Given the description of an element on the screen output the (x, y) to click on. 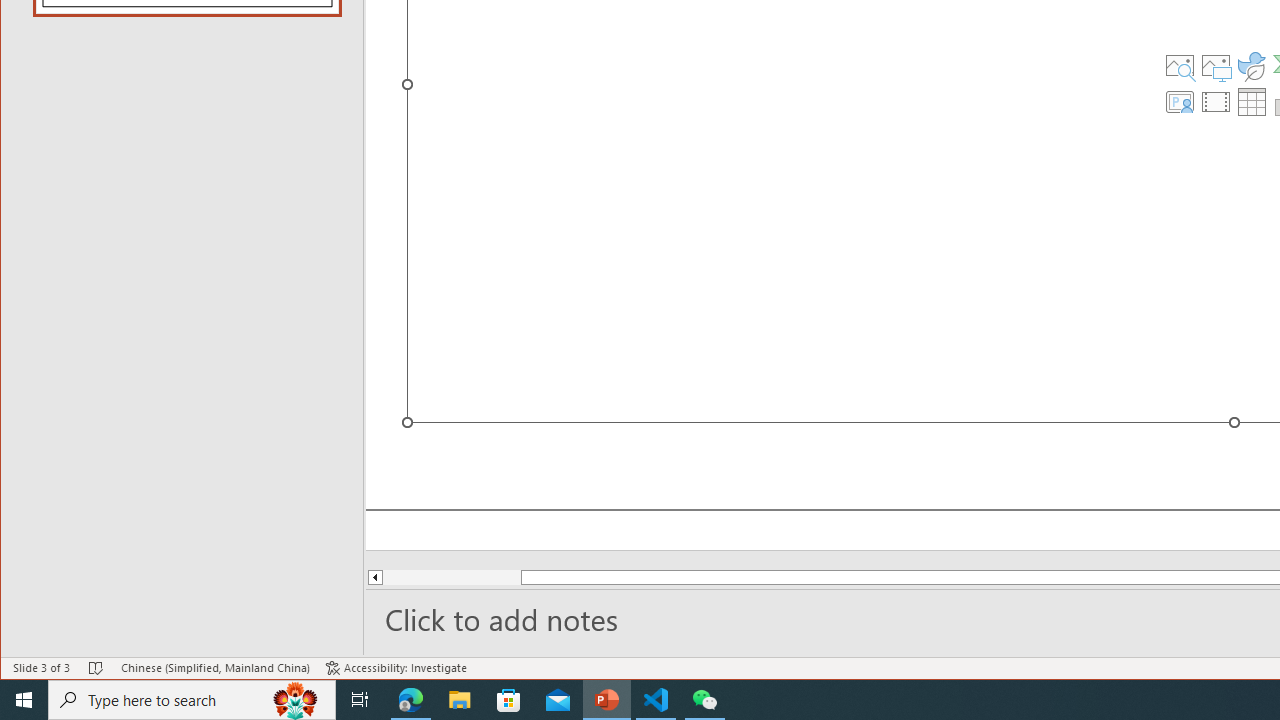
Insert Table (1252, 101)
WeChat - 1 running window (704, 699)
